Given the description of an element on the screen output the (x, y) to click on. 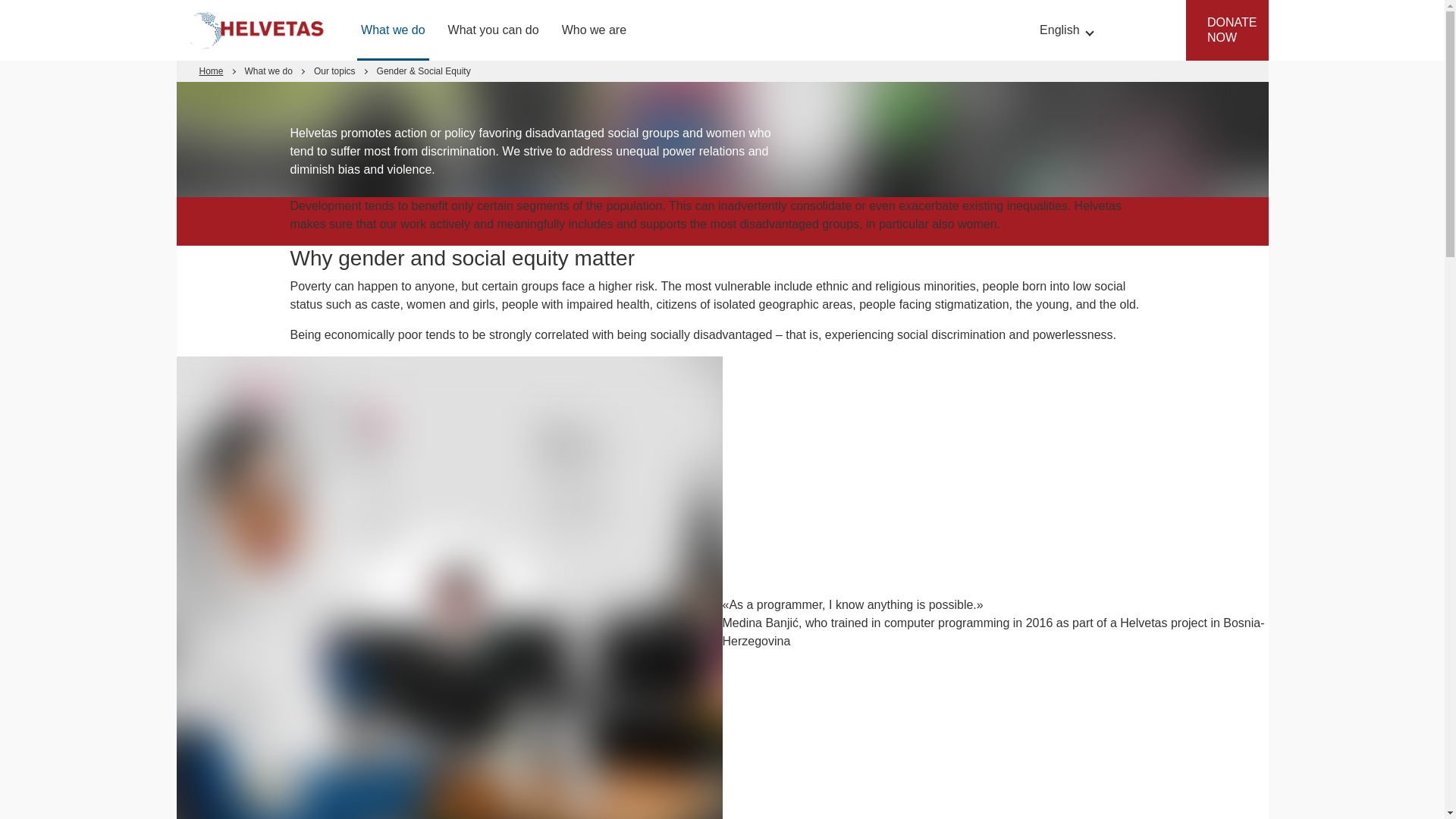
Who we are (593, 30)
What we do (392, 30)
What you can do (493, 30)
